Given the description of an element on the screen output the (x, y) to click on. 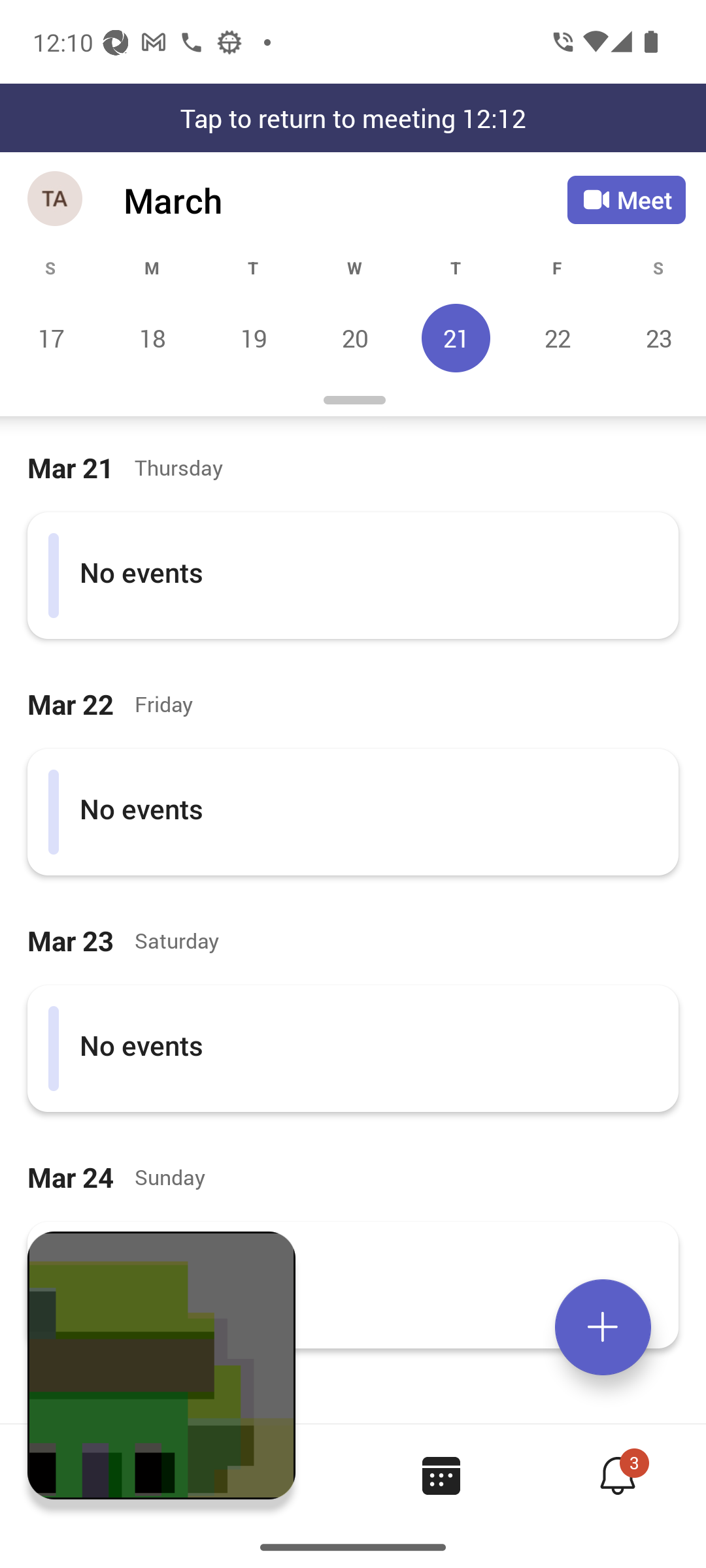
Tap to return to meeting 12:12 (353, 117)
Navigation (56, 199)
Meet Meet now or join with an ID (626, 199)
March March Calendar Agenda View (345, 199)
Sunday, March 17 17 (50, 337)
Monday, March 18 18 (151, 337)
Tuesday, March 19 19 (253, 337)
Wednesday, March 20 20 (354, 337)
Thursday, March 21, Selected 21 (455, 337)
Friday, March 22 22 (556, 337)
Saturday, March 23 23 (656, 337)
Expand meetings menu (602, 1327)
Calendar tab, 3 of 4 (441, 1475)
Activity tab,4 of 4, not selected, 3 new 3 (617, 1475)
